Given the description of an element on the screen output the (x, y) to click on. 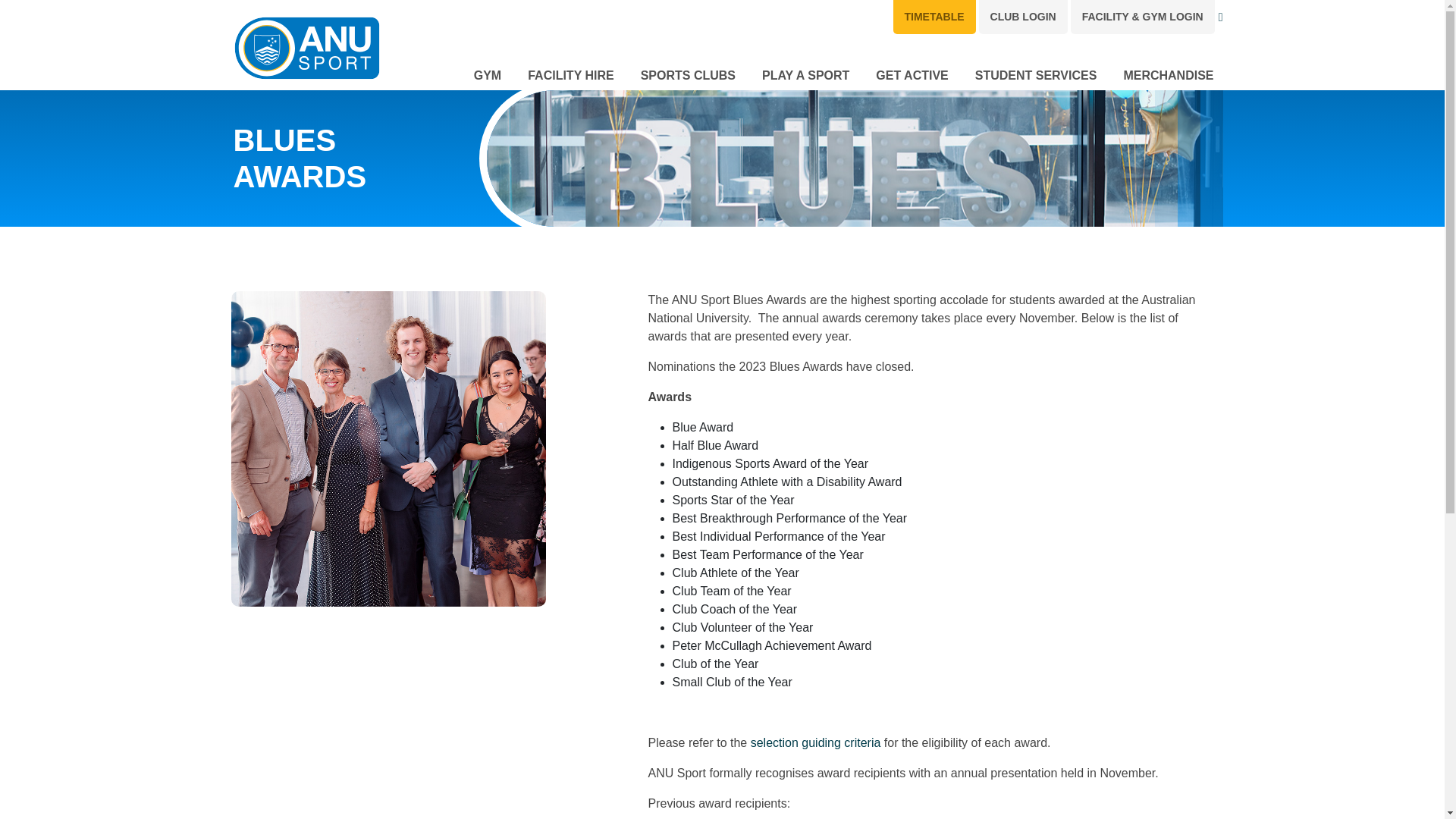
GET ACTIVE (911, 72)
PLAY A SPORT (804, 72)
GYM (487, 72)
MERCHANDISE (1167, 72)
FACILITY HIRE (570, 72)
TIMETABLE (934, 17)
CLUB LOGIN (1022, 17)
SPORTS CLUBS (687, 72)
Back to homepage (305, 47)
selection guiding criteria (815, 742)
